Given the description of an element on the screen output the (x, y) to click on. 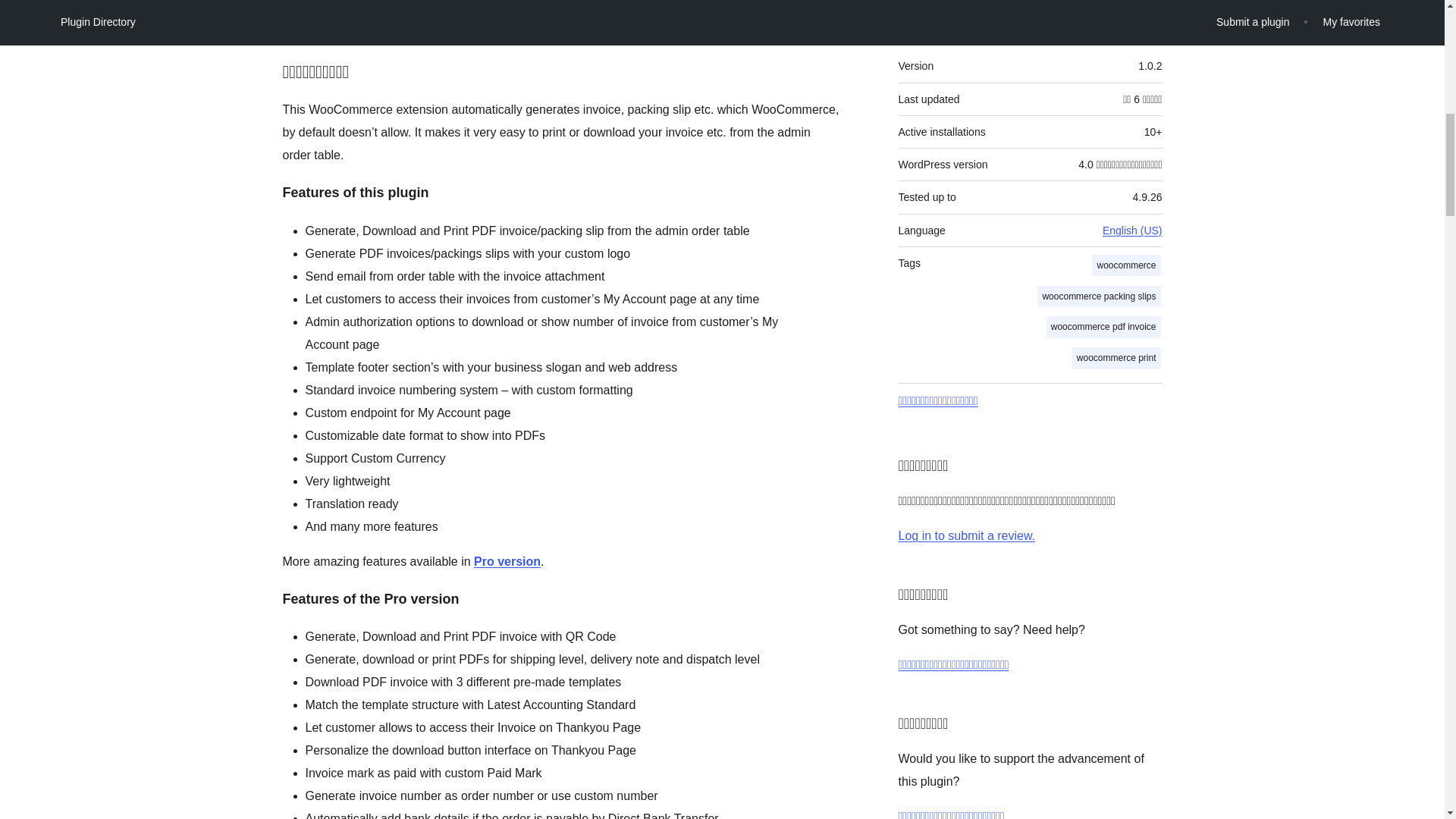
Log in to WordPress.org (966, 535)
Pro version (507, 561)
